Given the description of an element on the screen output the (x, y) to click on. 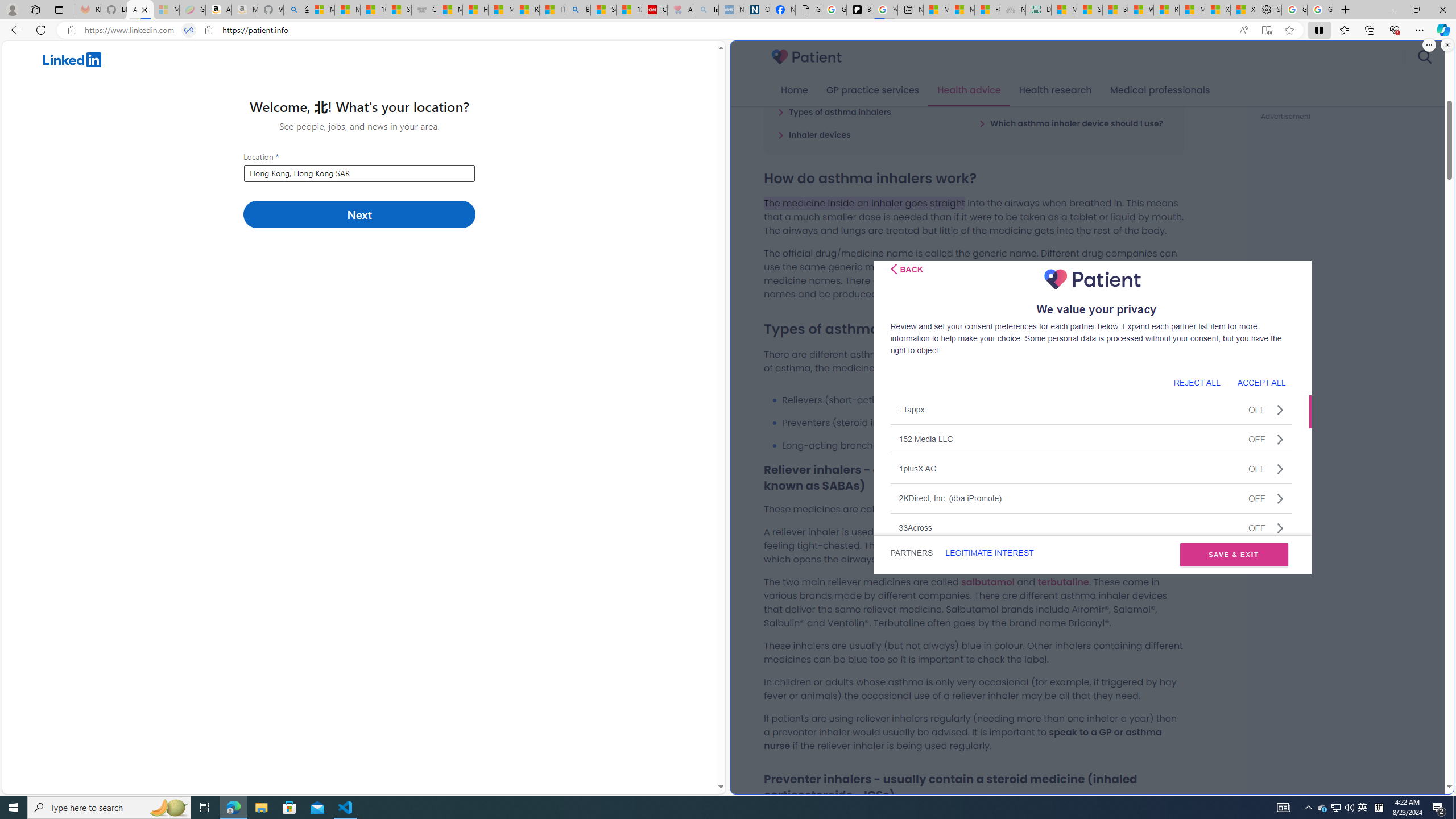
R******* | Trusted Community Engagement and Contributions (1165, 9)
Medical professionals (1160, 90)
Health research (1054, 90)
Favorites (1344, 29)
Combat Siege (424, 9)
SAVE & EXIT (1233, 554)
Preventers (steroid inhalers). (983, 422)
Patient 3.0 (807, 56)
Health advice (969, 90)
terbutaline (1062, 581)
LEGITIMATE INTEREST (988, 552)
ACCEPT ALL (1261, 382)
